Given the description of an element on the screen output the (x, y) to click on. 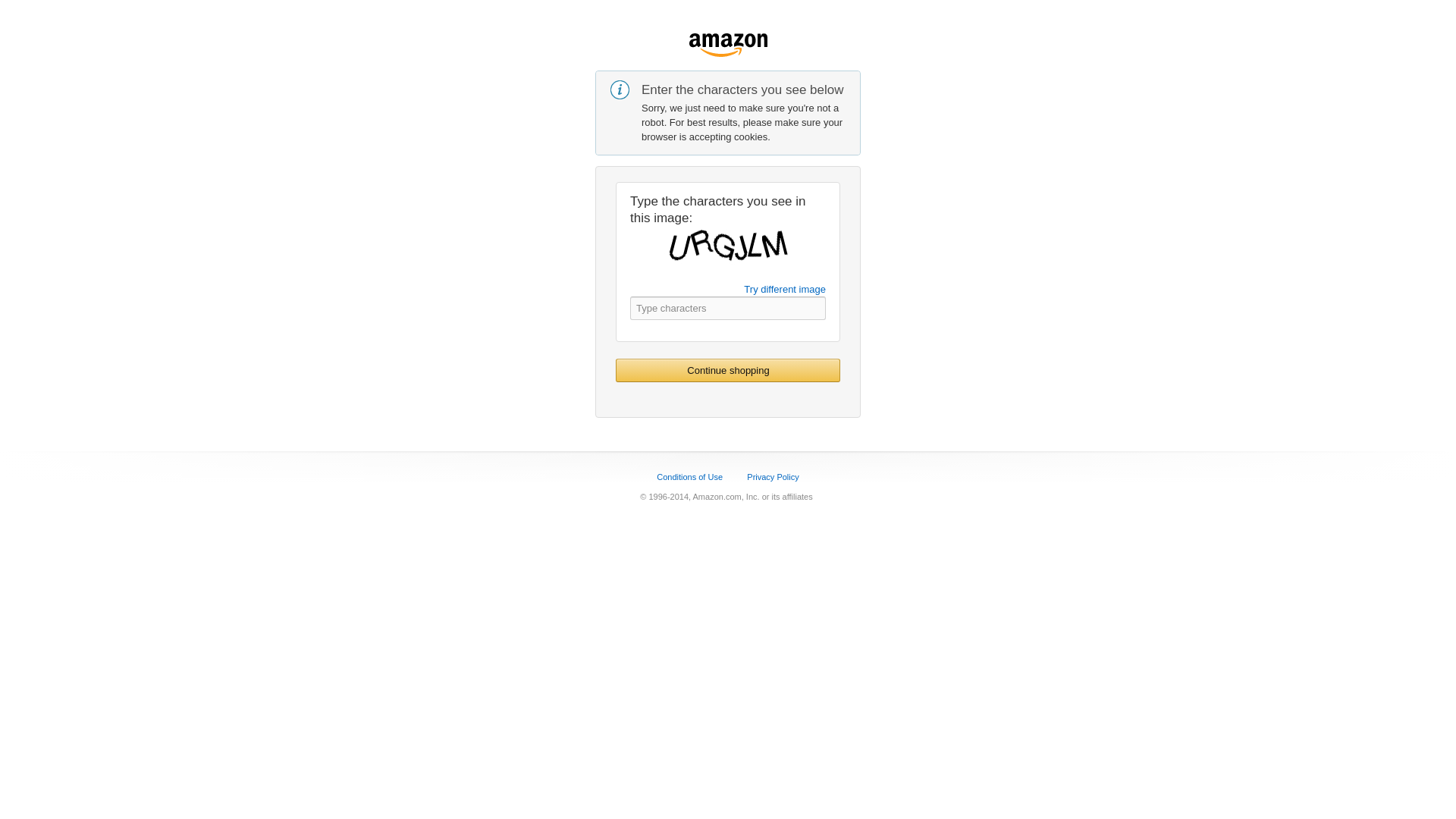
Conditions of Use (689, 476)
Try different image (784, 288)
Continue shopping (727, 370)
Privacy Policy (771, 476)
